Given the description of an element on the screen output the (x, y) to click on. 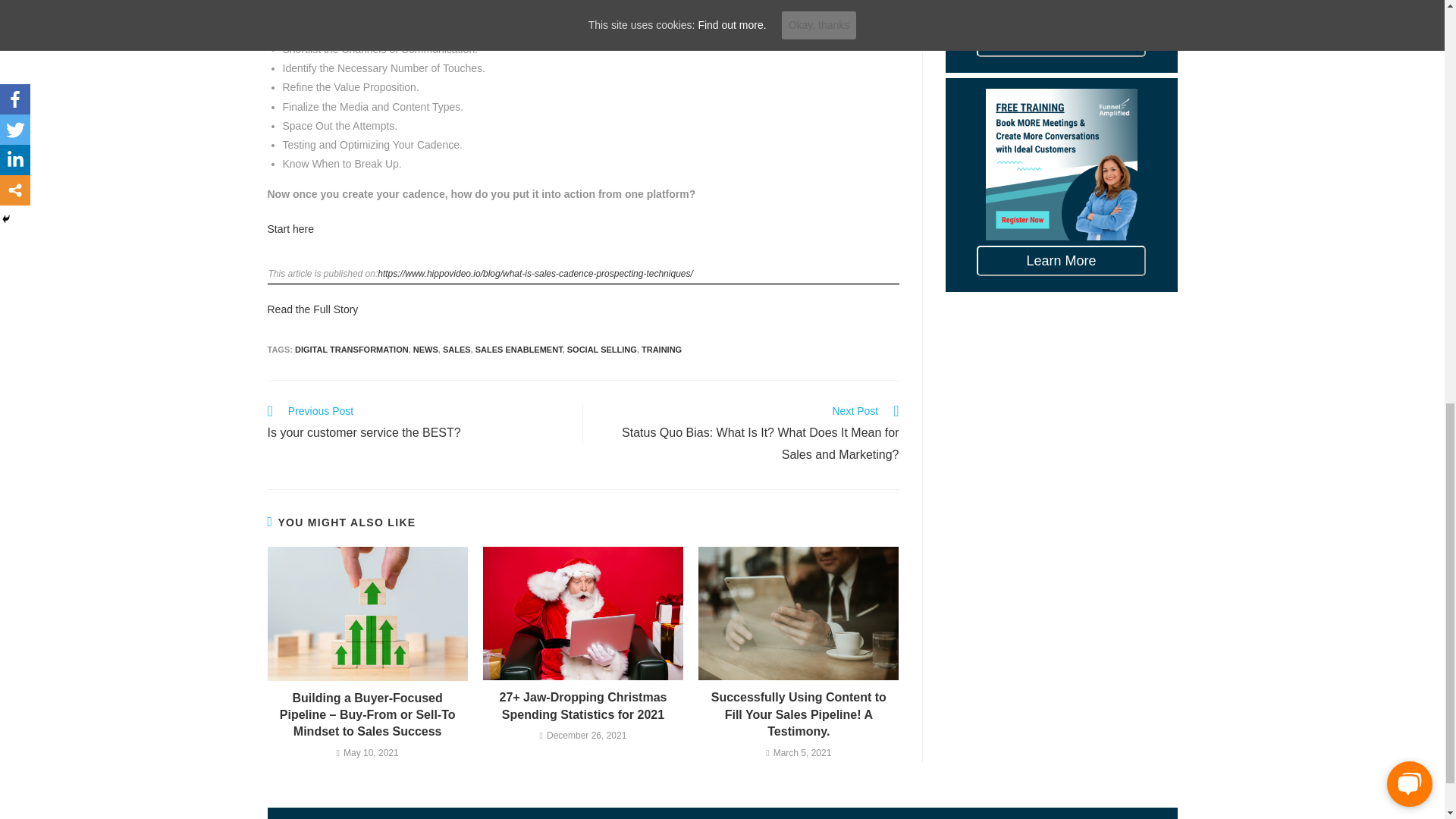
4aee79881a99dcdf397278814ca3b190 (366, 613)
SOCIAL SELLING (602, 348)
Start here (289, 228)
TRAINING (416, 423)
SALES ENABLEMENT (661, 348)
NEWS (519, 348)
bde8089b1c0d39d076a21c928b9937e3 (425, 348)
Read the Full Story (798, 613)
SALES (312, 309)
DIGITAL TRANSFORMATION (456, 348)
f896f84e133531760987053254c3fb21 (352, 348)
